Given the description of an element on the screen output the (x, y) to click on. 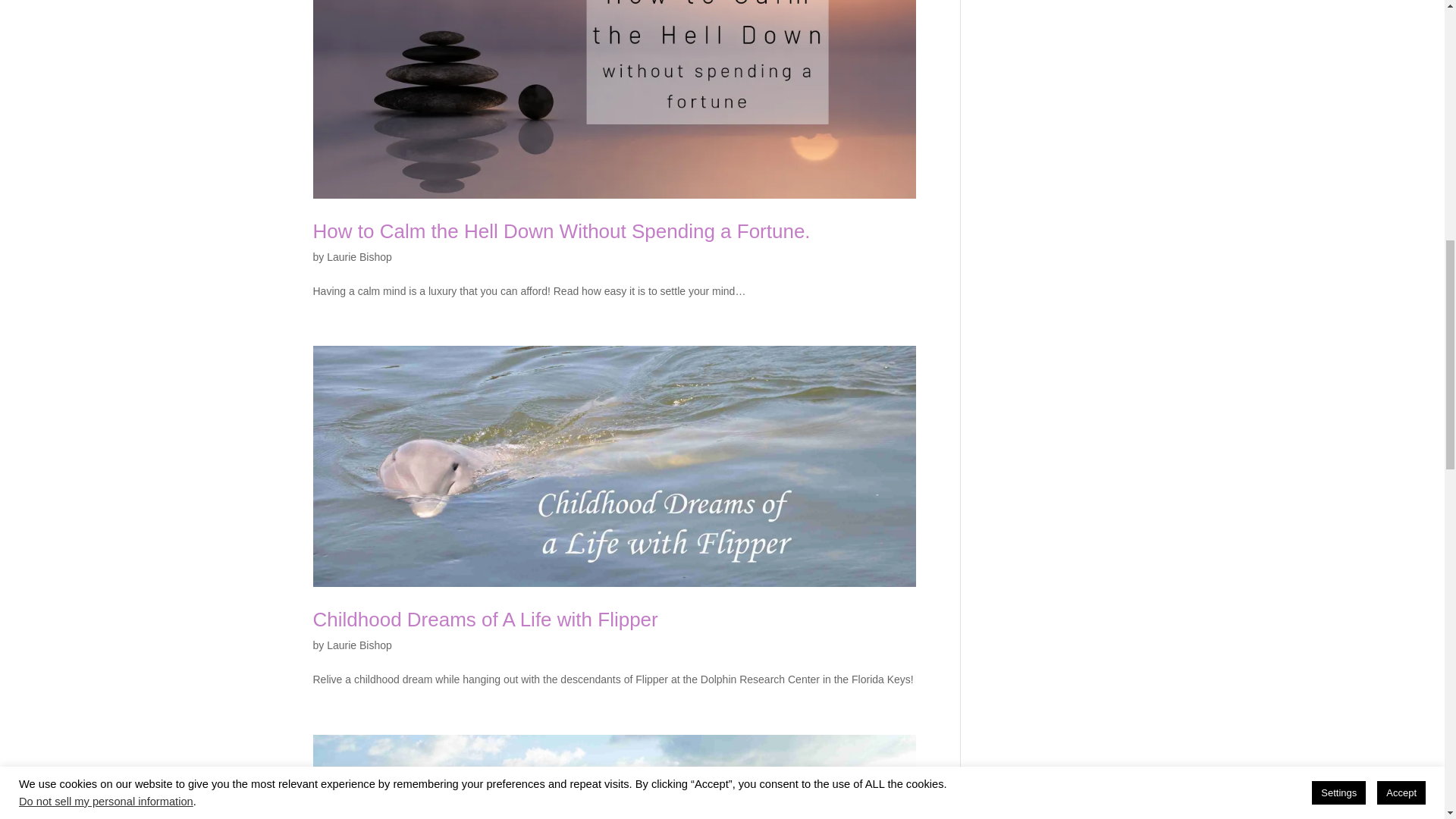
Laurie Bishop (358, 645)
Posts by Laurie Bishop (358, 256)
Laurie Bishop (358, 256)
How to Calm the Hell Down Without Spending a Fortune. (561, 231)
Childhood Dreams of A Life with Flipper (485, 619)
Posts by Laurie Bishop (358, 645)
